Given the description of an element on the screen output the (x, y) to click on. 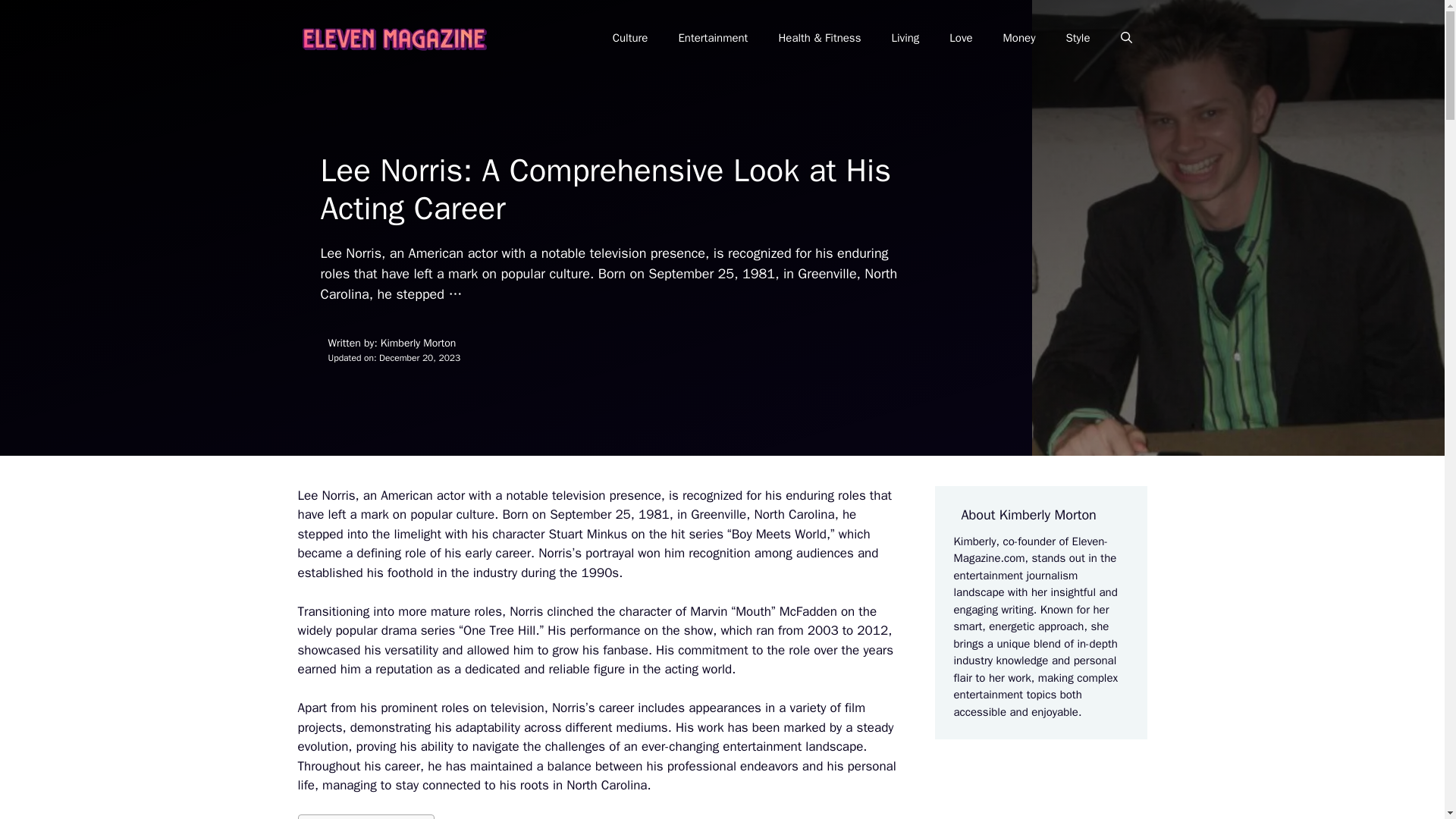
Living (905, 37)
Culture (629, 37)
Love (960, 37)
Money (1019, 37)
Style (1077, 37)
Entertainment (712, 37)
